Given the description of an element on the screen output the (x, y) to click on. 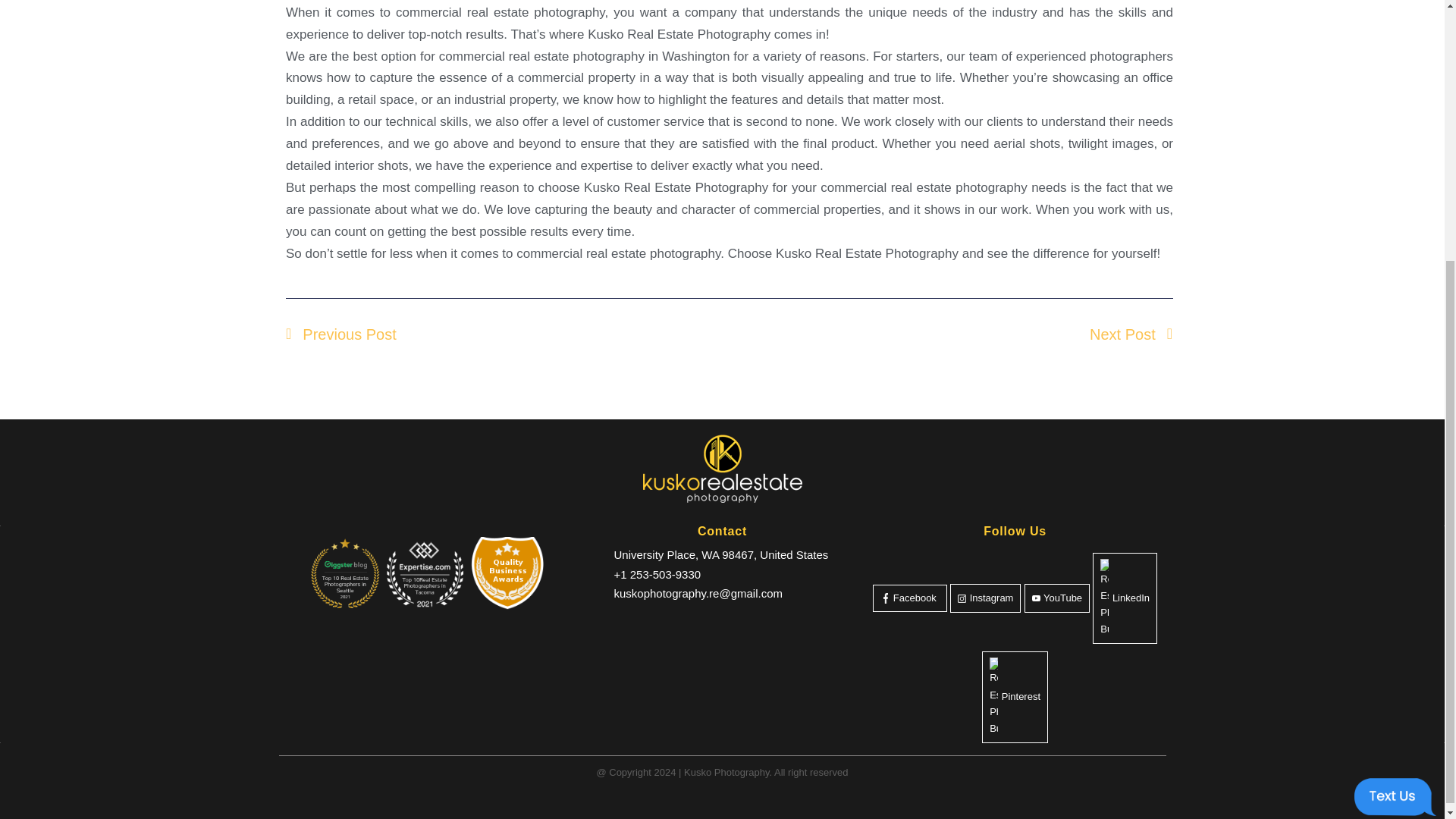
Instagram (985, 597)
Next Post (951, 334)
Previous Post (507, 334)
YouTube (1057, 597)
Send Us Message (1395, 419)
University Place, WA 98467, United States (720, 554)
Facebook (909, 597)
